Given the description of an element on the screen output the (x, y) to click on. 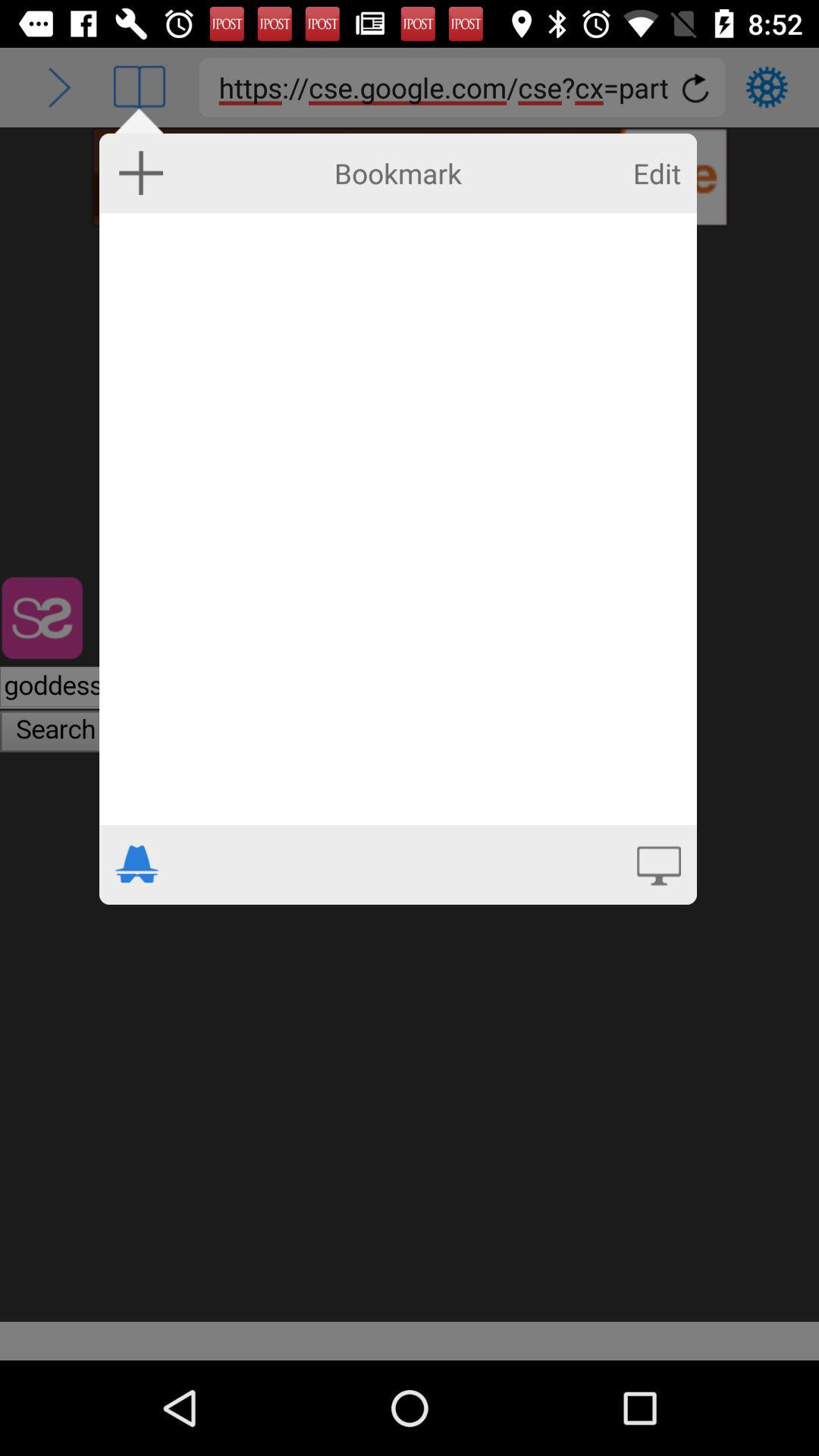
tap the item below the bookmark item (397, 518)
